Given the description of an element on the screen output the (x, y) to click on. 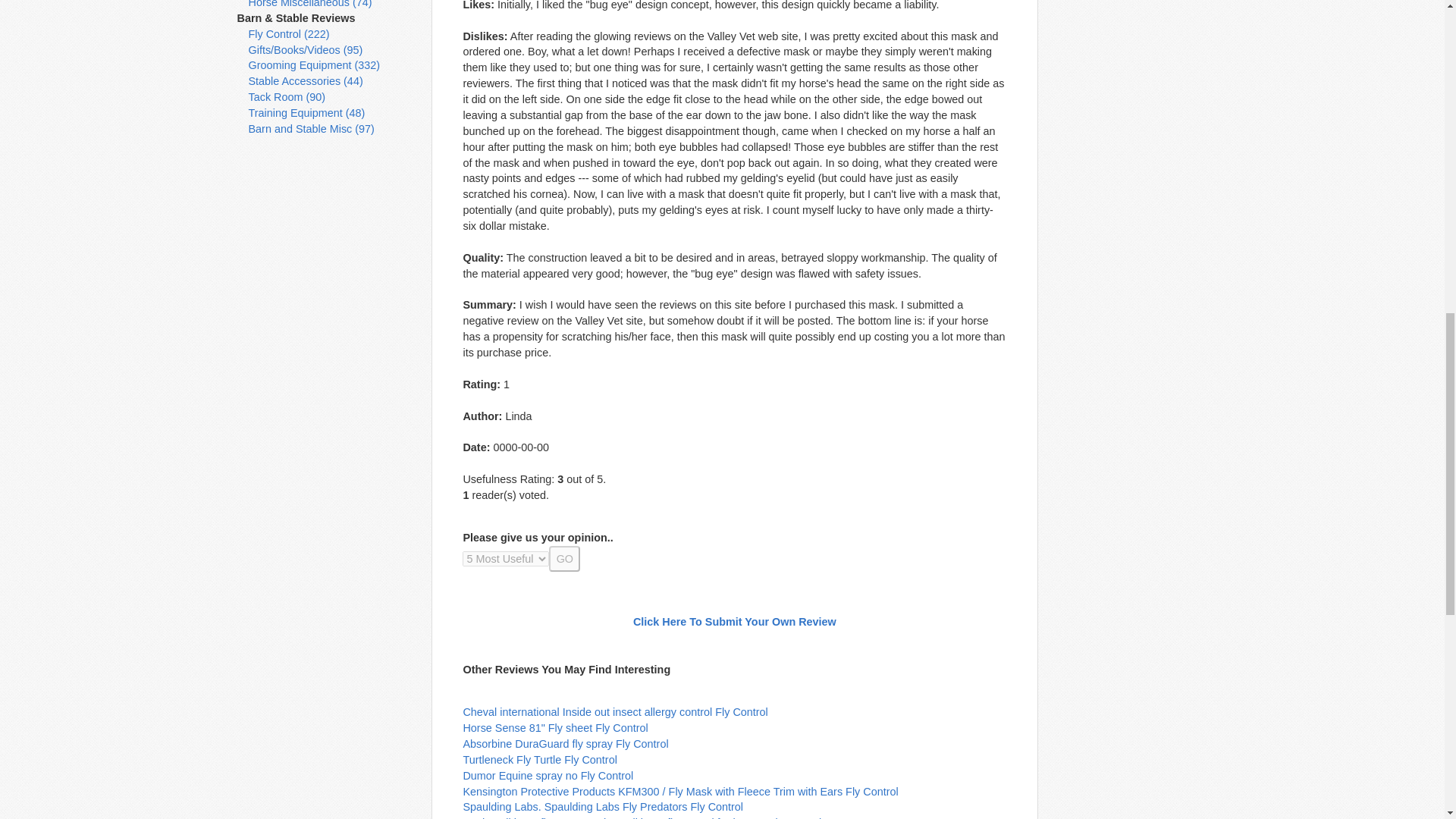
GO (563, 558)
